Given the description of an element on the screen output the (x, y) to click on. 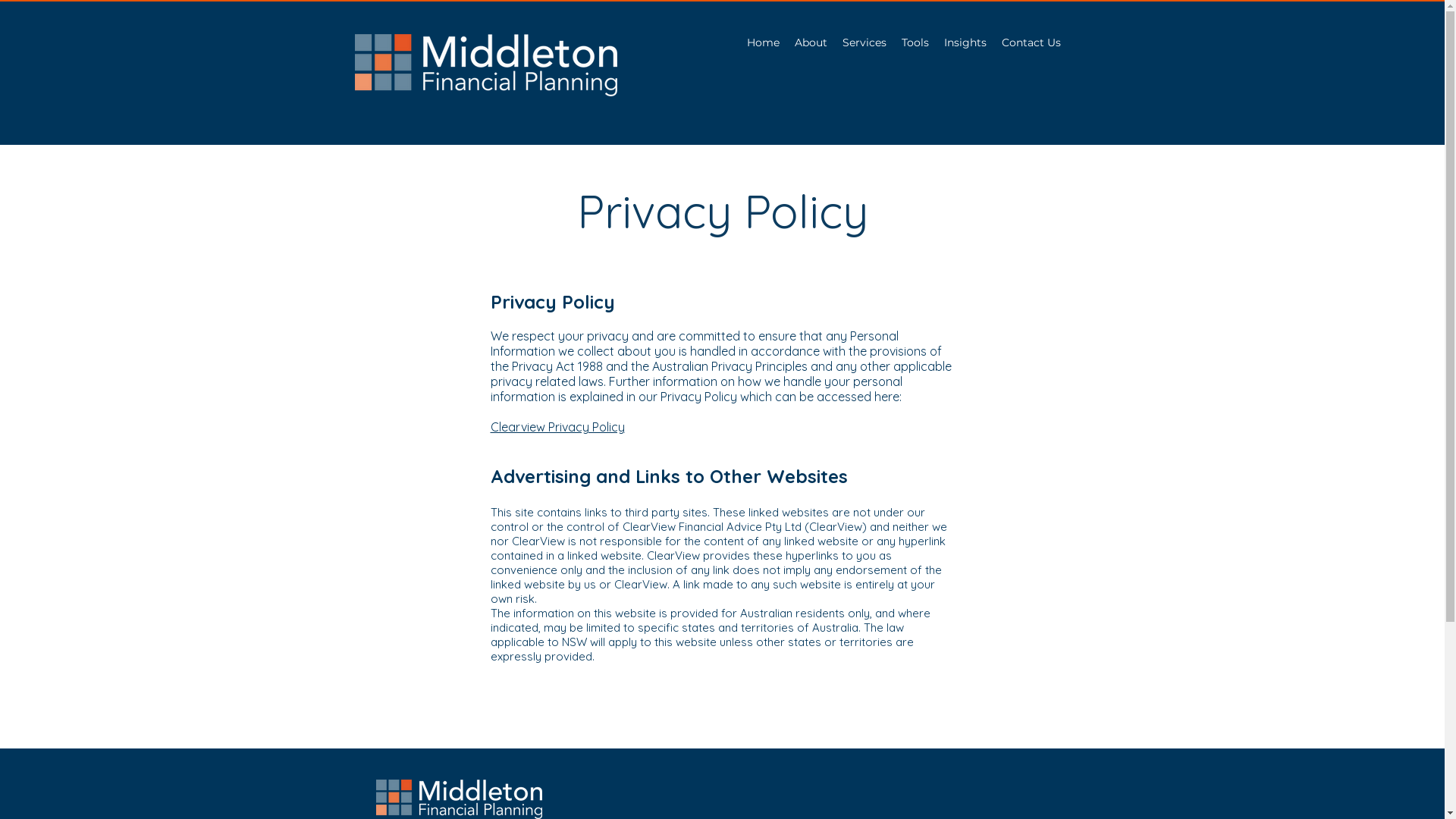
Insights Element type: text (964, 42)
Contact Us Element type: text (1030, 42)
Clearview Privacy Policy Element type: text (556, 426)
Home Element type: text (762, 42)
Services Element type: text (863, 42)
About Element type: text (810, 42)
Tools Element type: text (914, 42)
